Given the description of an element on the screen output the (x, y) to click on. 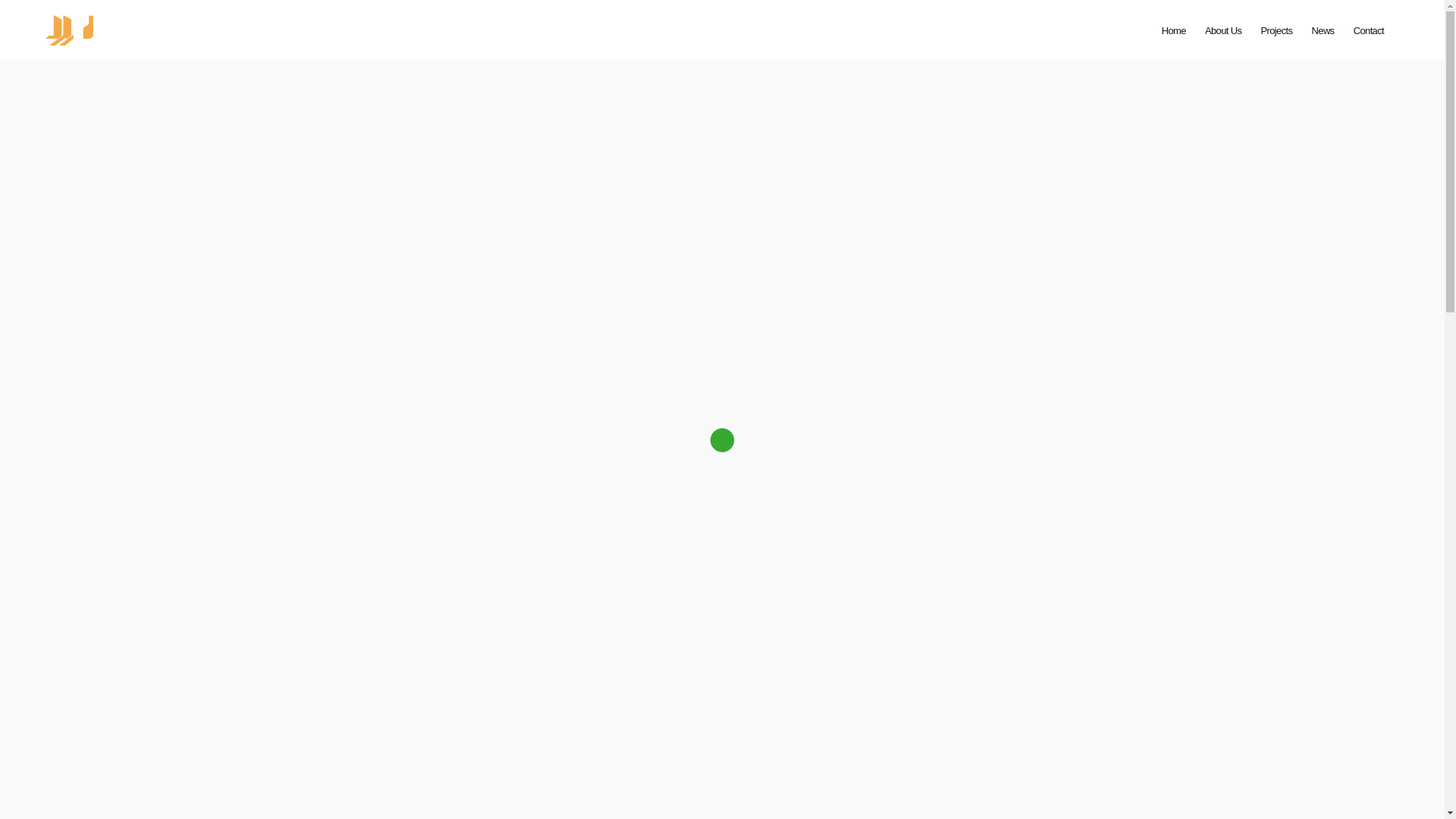
Home (1173, 30)
Contact (1369, 30)
Projects (1276, 30)
About Us (1223, 30)
News (1323, 30)
